Given the description of an element on the screen output the (x, y) to click on. 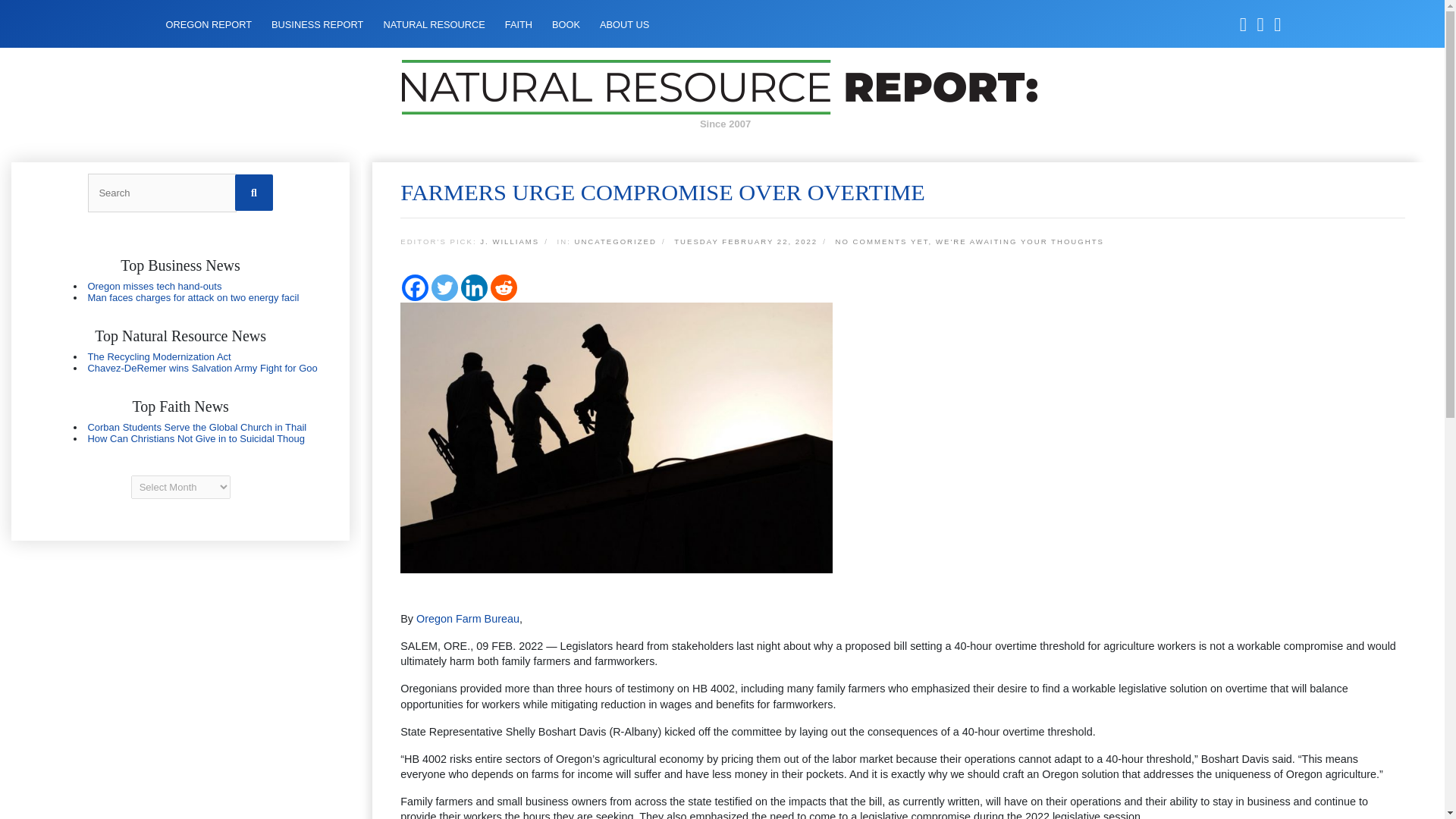
How Can Christians Not Give in to Suicidal Thoug (195, 438)
Oregon (180, 291)
Oregon (180, 362)
Man faces charges for attack on two energy facil (192, 297)
ABOUT US (624, 24)
Chavez-DeRemer wins Salvation Army Fight for Good Award (202, 367)
Facebook (414, 287)
Oregon misses tech hand-outs (154, 285)
Twitter (444, 287)
Oregon Farm Bureau (467, 618)
The Recycling Modernization Act (158, 356)
FAITH (518, 24)
Corban Students Serve the Global Church in Thailand (196, 427)
NATURAL RESOURCE (433, 24)
BOOK (566, 24)
